Given the description of an element on the screen output the (x, y) to click on. 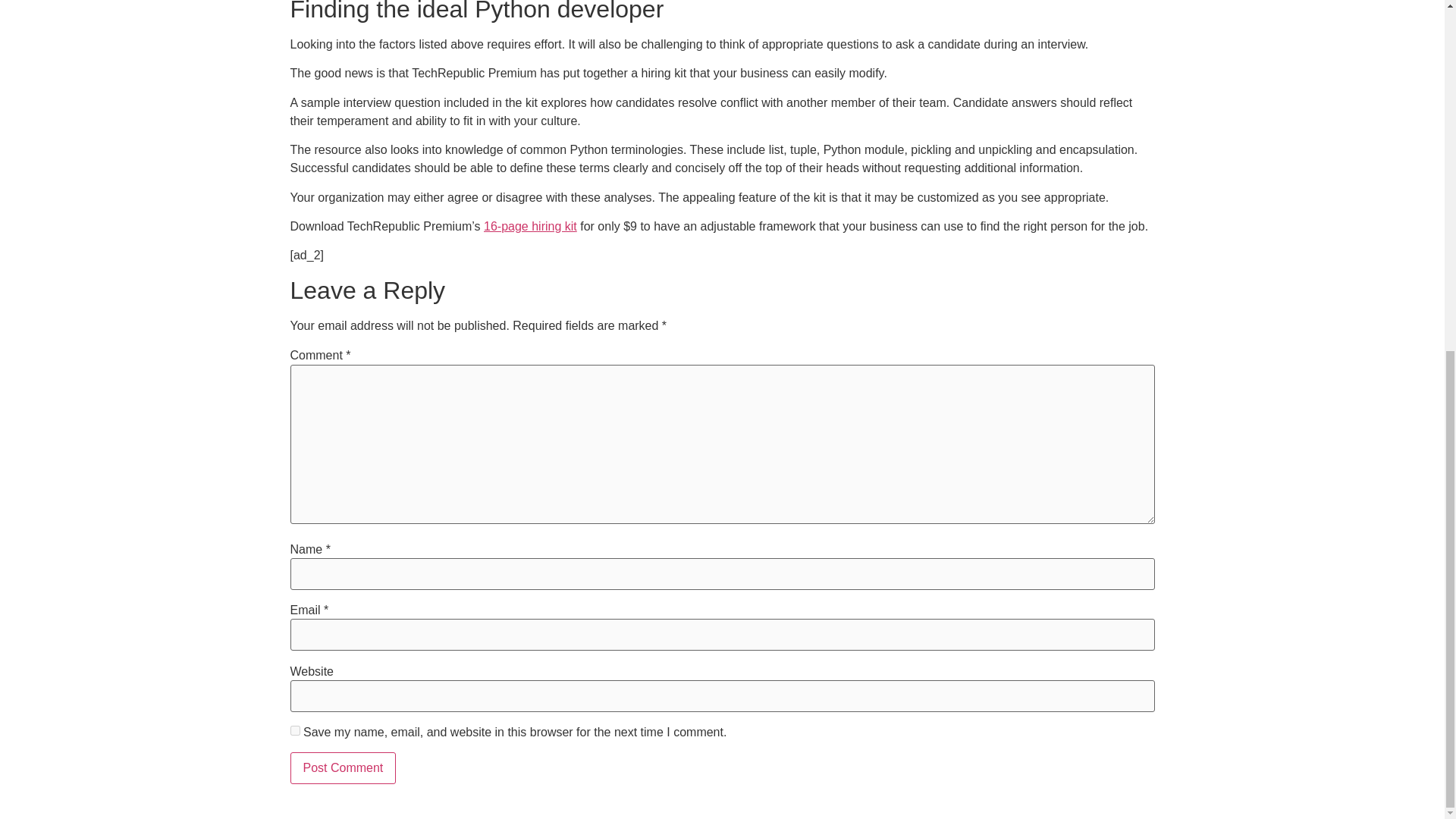
Post Comment (342, 767)
Post Comment (342, 767)
16-page hiring kit (529, 226)
yes (294, 730)
